Given the description of an element on the screen output the (x, y) to click on. 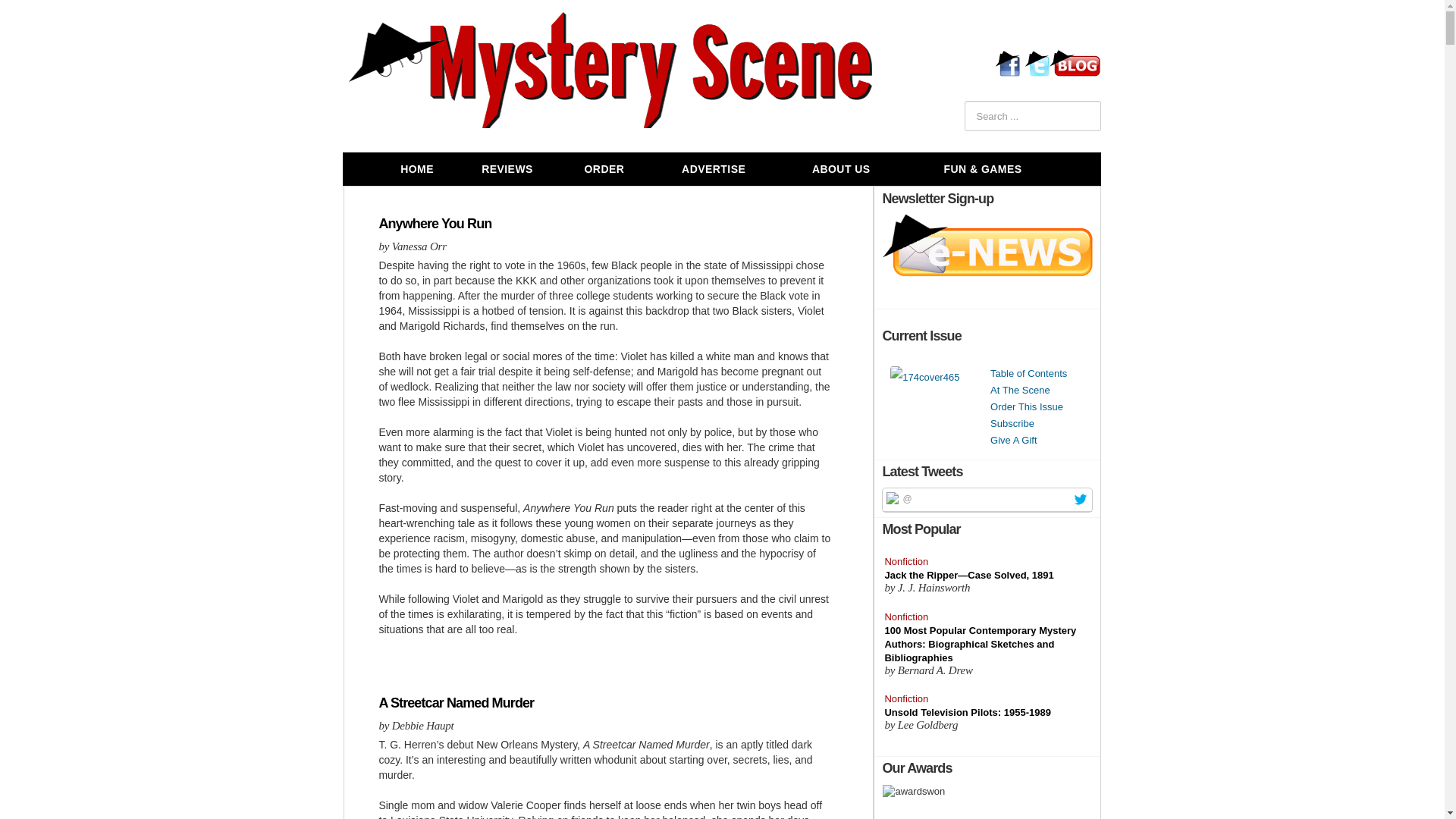
ABOUT US (841, 168)
ORDER (603, 168)
ADVERTISE (712, 168)
REVIEWS (507, 168)
HOME (416, 168)
